Given the description of an element on the screen output the (x, y) to click on. 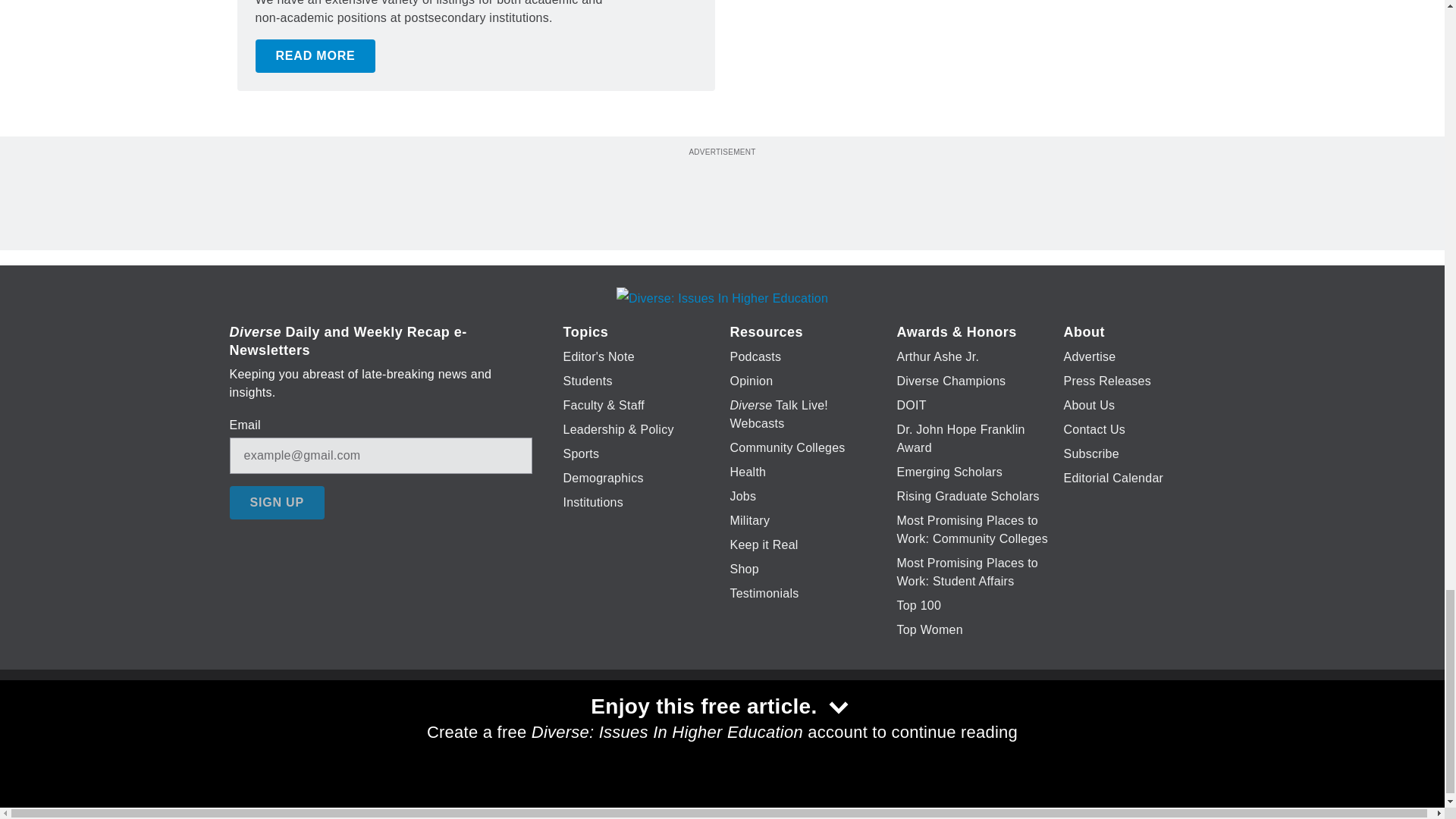
Instagram icon (796, 727)
YouTube icon (757, 727)
Facebook icon (635, 727)
Twitter X icon (674, 727)
LinkedIn icon (718, 727)
